Given the description of an element on the screen output the (x, y) to click on. 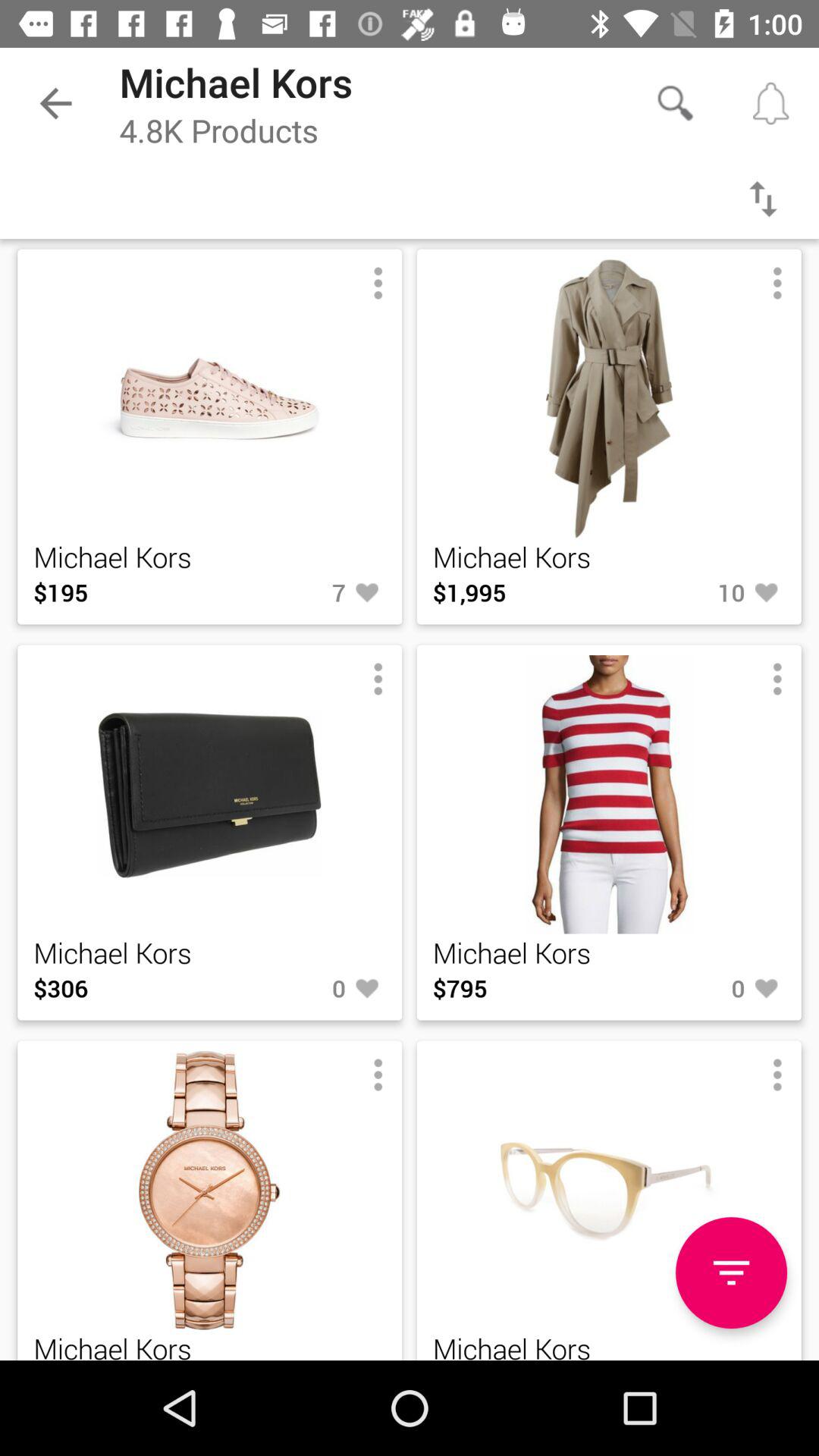
turn off the 7 (297, 592)
